Given the description of an element on the screen output the (x, y) to click on. 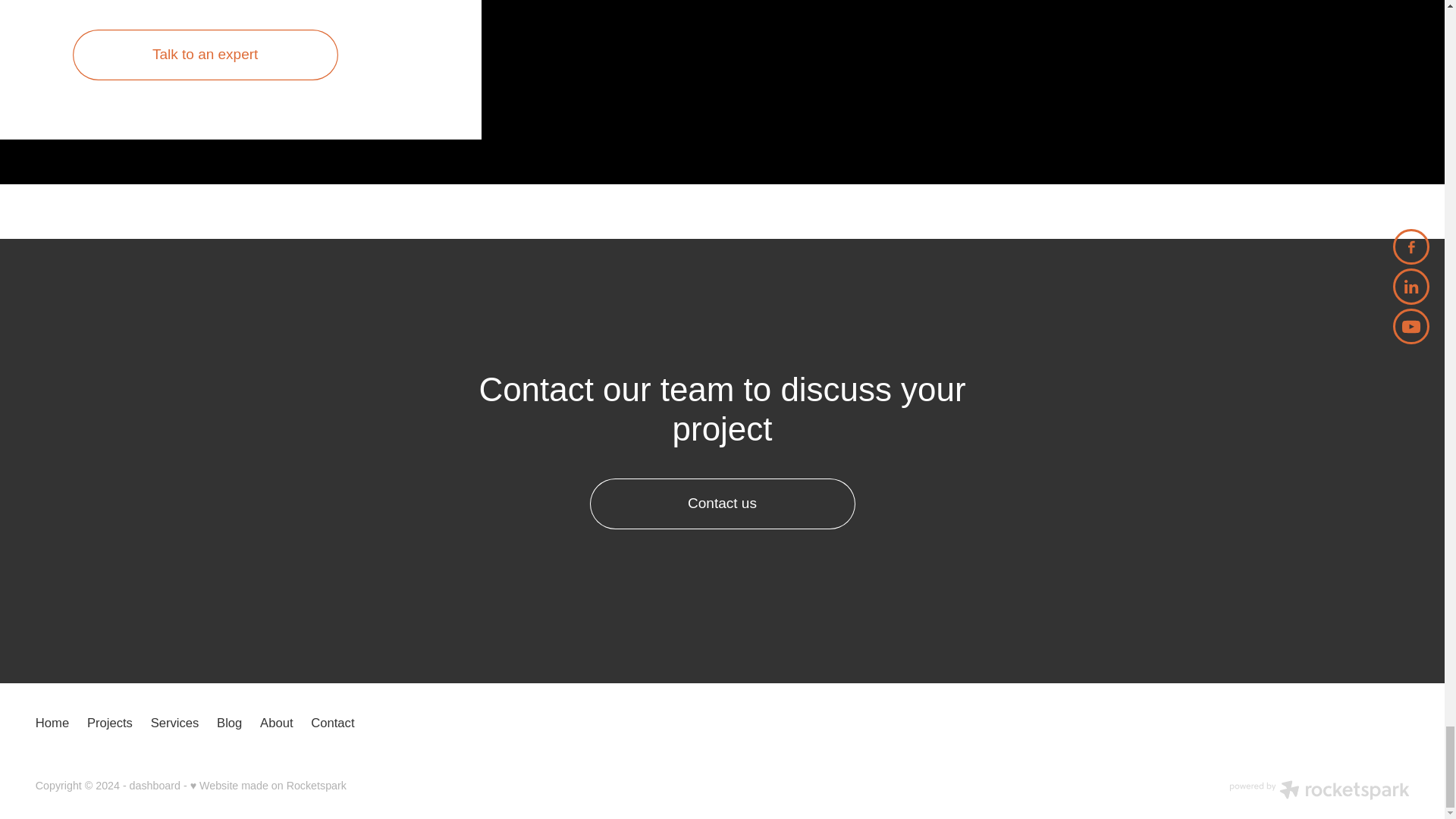
Talk to an expert (204, 54)
Rocketspark website builder (1318, 791)
Contact us (722, 503)
